Given the description of an element on the screen output the (x, y) to click on. 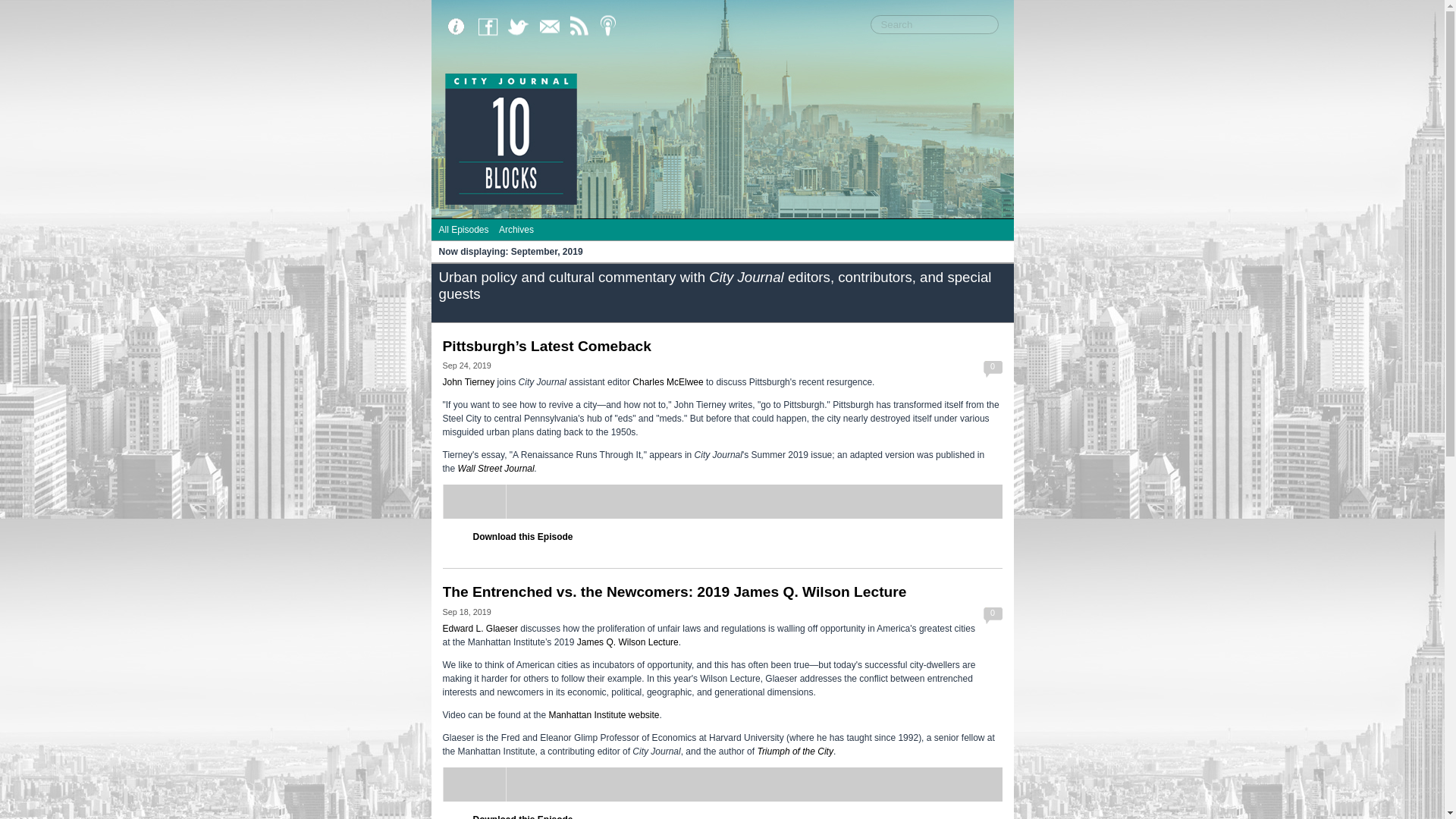
Email (552, 26)
Twitter (521, 26)
RSS Feed (581, 26)
Facebook (491, 26)
Libsyn Player (722, 501)
Libsyn Player (722, 784)
Subscribe in Apple Podcasts (611, 26)
